Given the description of an element on the screen output the (x, y) to click on. 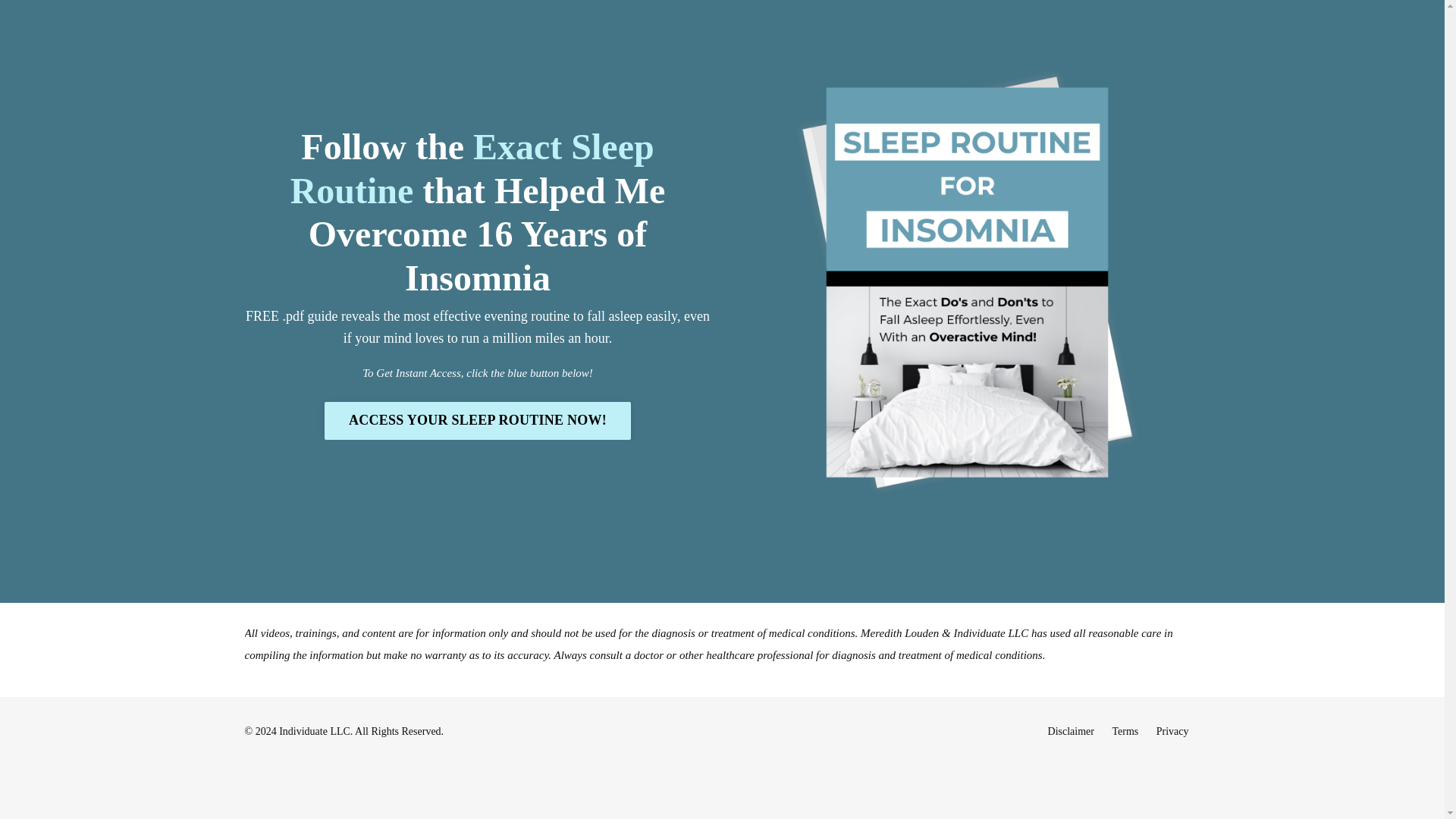
Terms (1125, 731)
Disclaimer (1071, 731)
ACCESS YOUR SLEEP ROUTINE NOW! (477, 420)
Privacy (1172, 731)
